Given the description of an element on the screen output the (x, y) to click on. 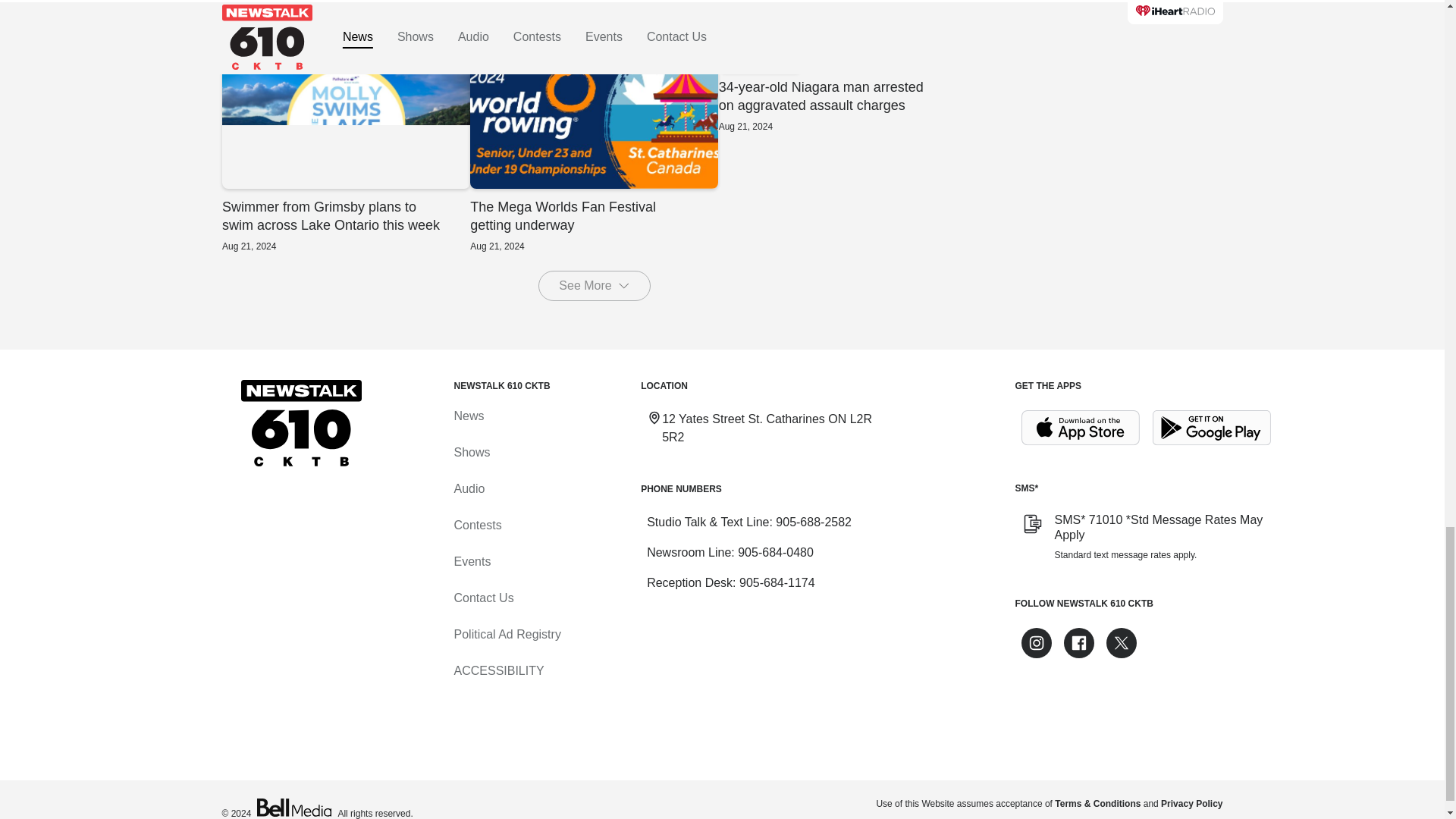
Shows (470, 451)
Privacy Policy (1191, 803)
The Mega Worlds Fan Festival getting underway (593, 155)
905-688-2582 (813, 521)
News (467, 415)
Events (593, 155)
